Given the description of an element on the screen output the (x, y) to click on. 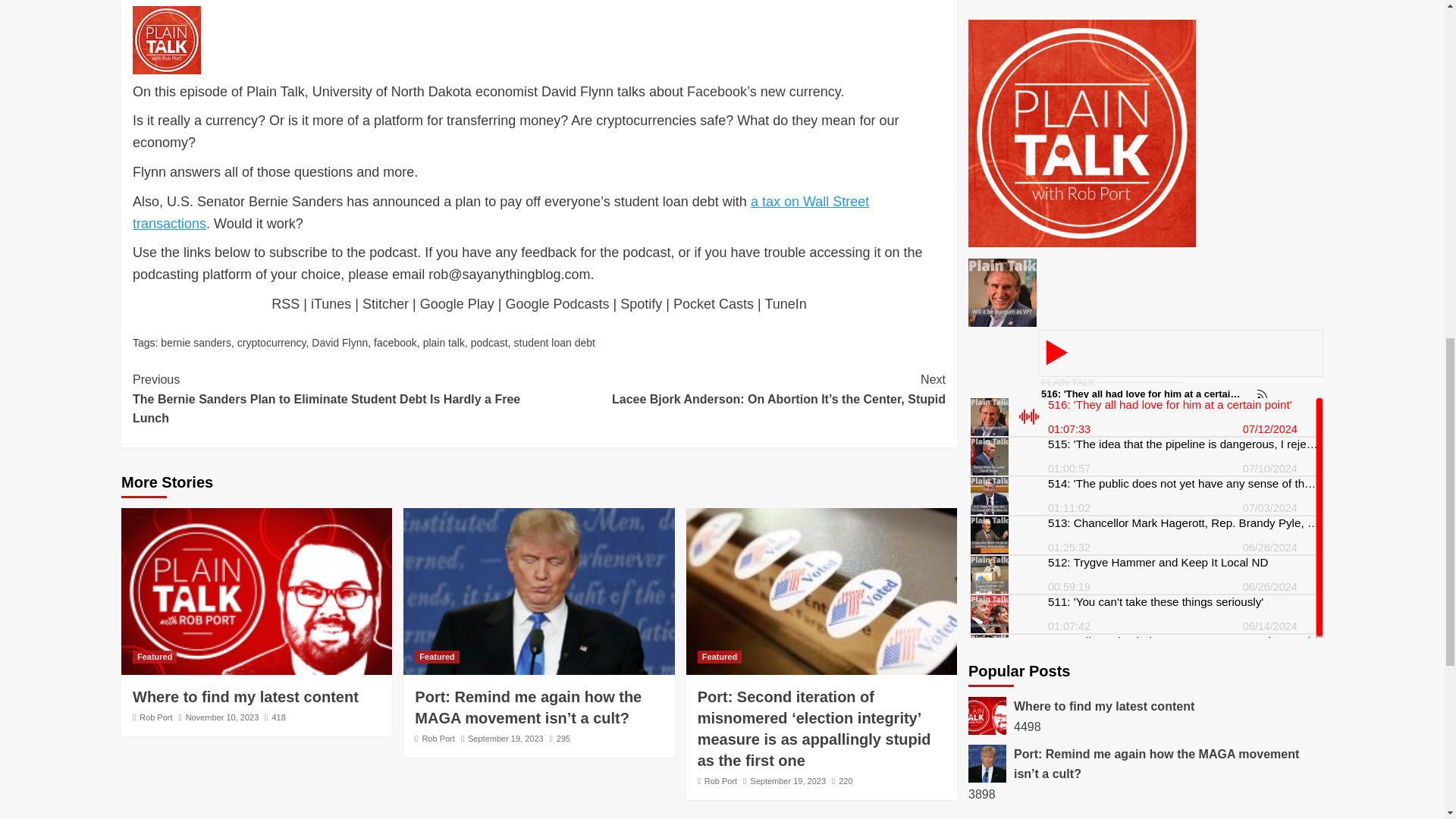
bernie sanders (195, 342)
Spotify (641, 304)
David Flynn (339, 342)
Stitcher (385, 304)
Google Play (457, 304)
RSS (284, 304)
a tax on Wall Street transactions (500, 212)
cryptocurrency (271, 342)
Pocket Casts (713, 304)
facebook (395, 342)
iTunes (330, 304)
Google Podcasts (556, 304)
TuneIn (785, 304)
plain talk (443, 342)
